Given the description of an element on the screen output the (x, y) to click on. 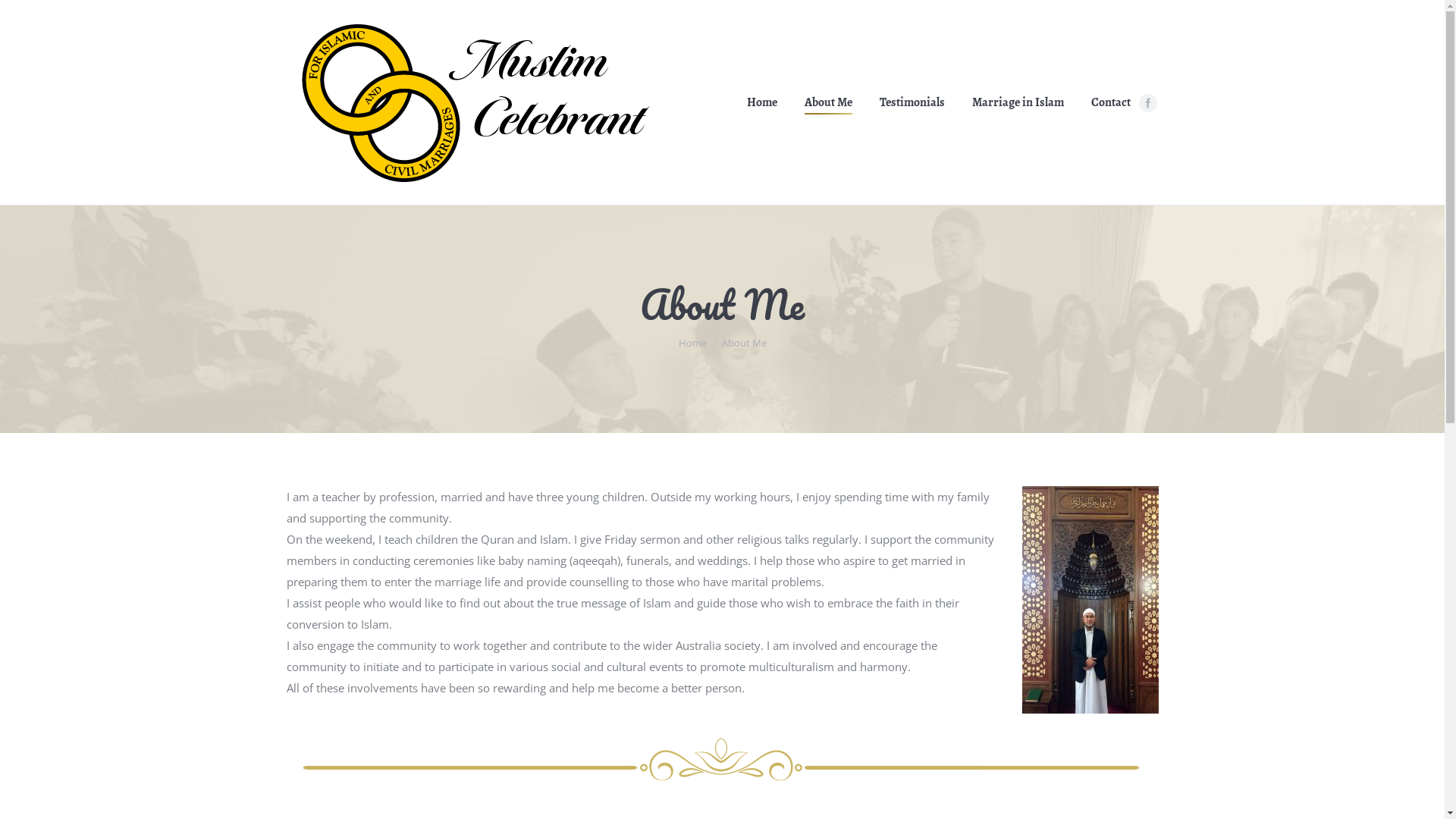
Marriage in Islam Element type: text (1017, 102)
Contact Element type: text (1109, 102)
Testimonials Element type: text (911, 102)
Facebook Element type: hover (1148, 103)
About Me Element type: text (827, 102)
Home Element type: text (761, 102)
Home Element type: text (691, 342)
